Given the description of an element on the screen output the (x, y) to click on. 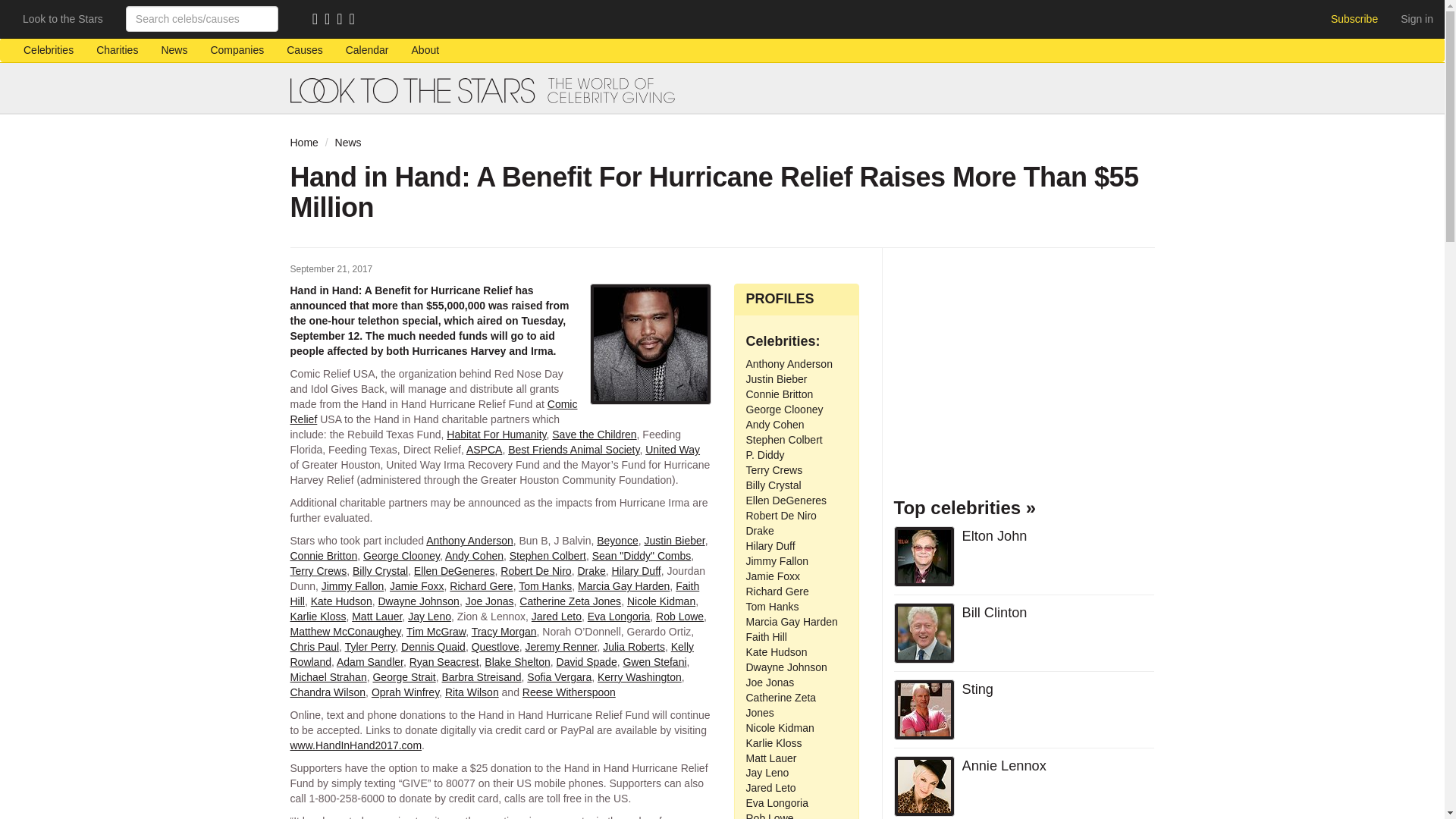
2396 charities with celebrity supporters (116, 49)
Find out more about this website (425, 49)
Save the Children (593, 434)
United Way (672, 449)
ASPCA (483, 449)
Charitable areas of interest (304, 49)
Look to the Stars (63, 18)
Mailing list (330, 20)
4645 celebrities supporting charities (47, 49)
News (173, 49)
RSS feed (318, 20)
Causes (304, 49)
Habitat For Humanity (496, 434)
Best Friends Animal Society (573, 449)
News about celebrities doing good (173, 49)
